Given the description of an element on the screen output the (x, y) to click on. 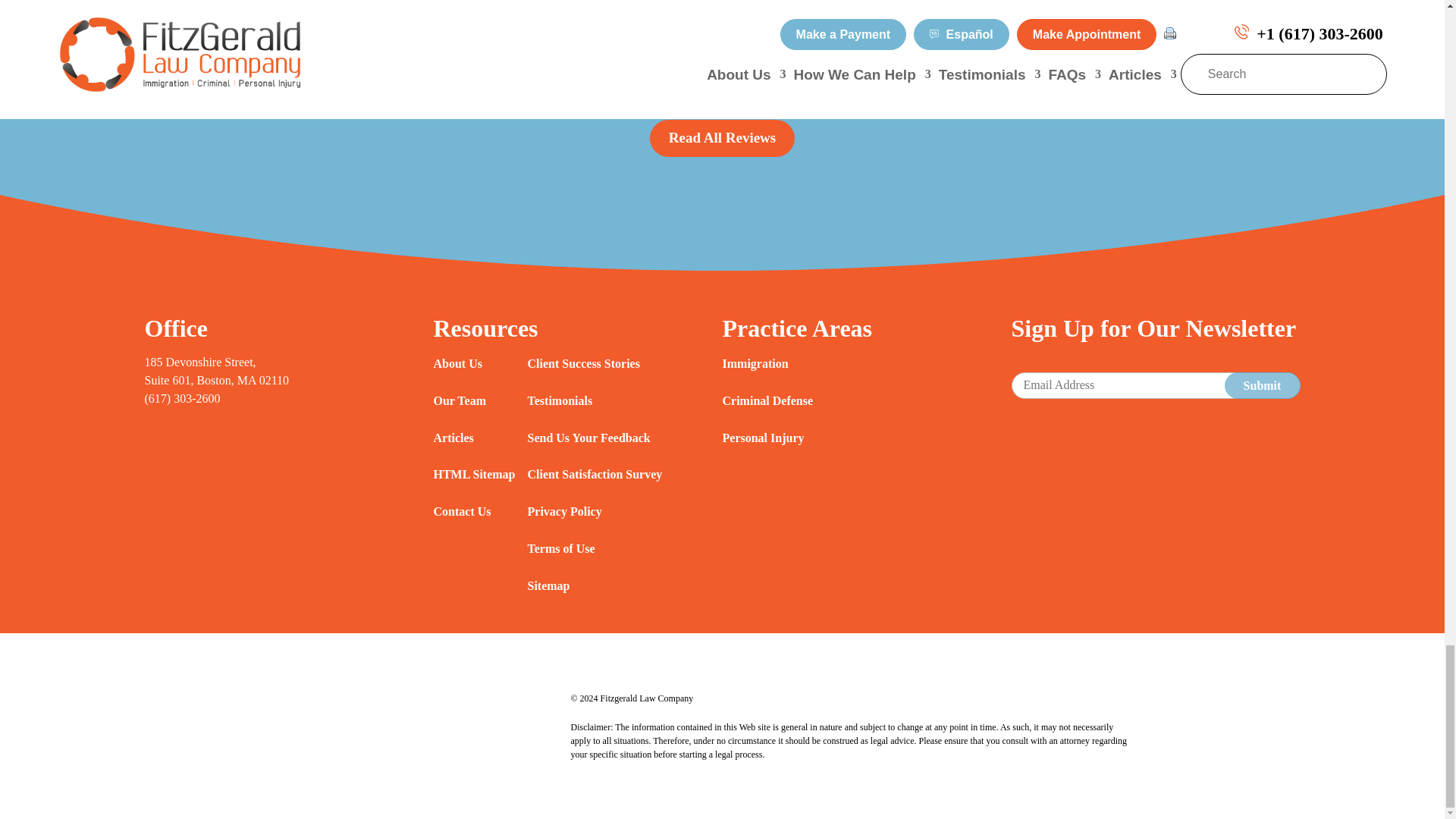
Submit (1262, 385)
